Given the description of an element on the screen output the (x, y) to click on. 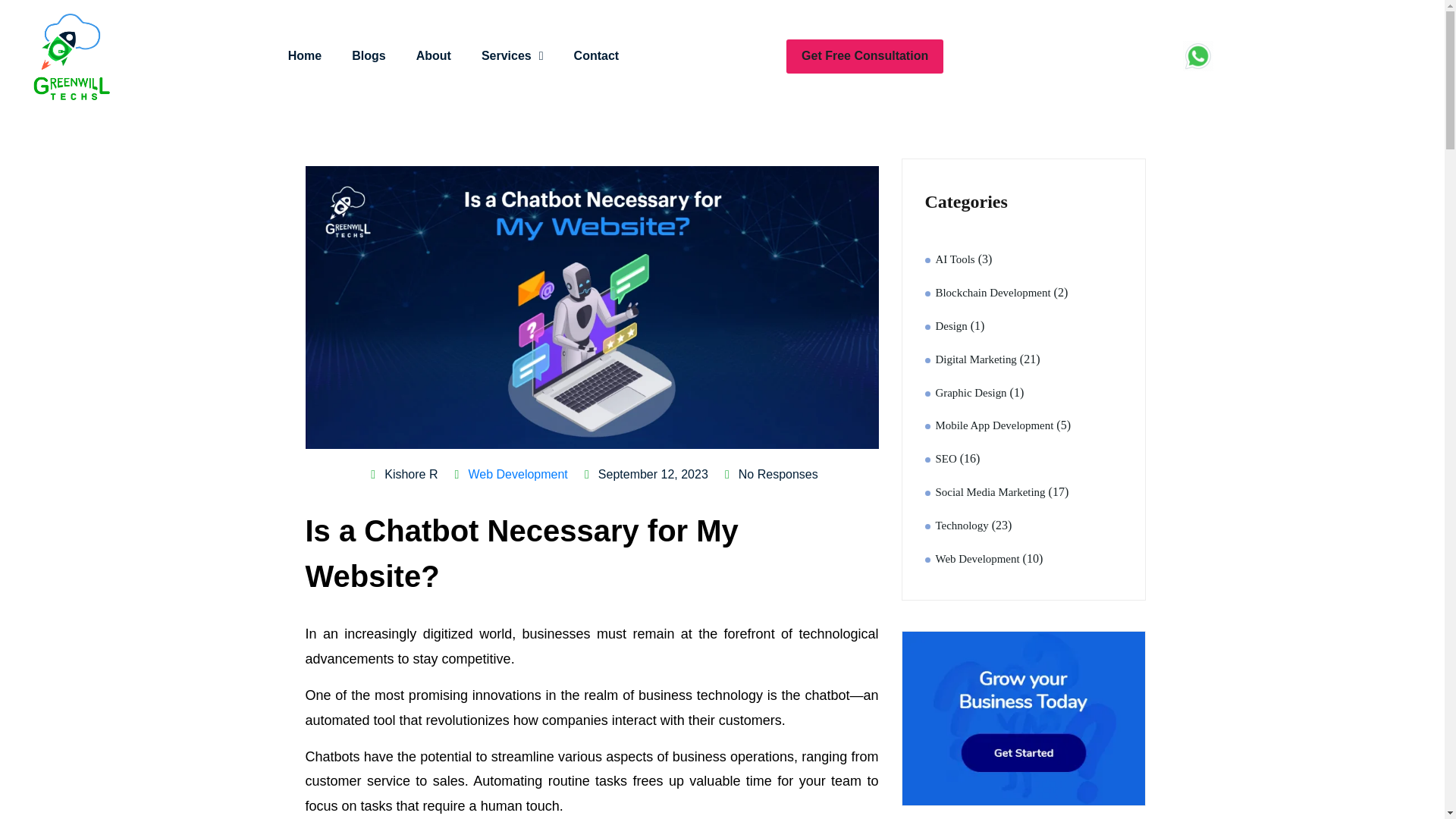
Contact (596, 55)
Home (304, 55)
About (433, 55)
Services (512, 55)
Get Free Consultation (864, 56)
Blogs (368, 55)
